Given the description of an element on the screen output the (x, y) to click on. 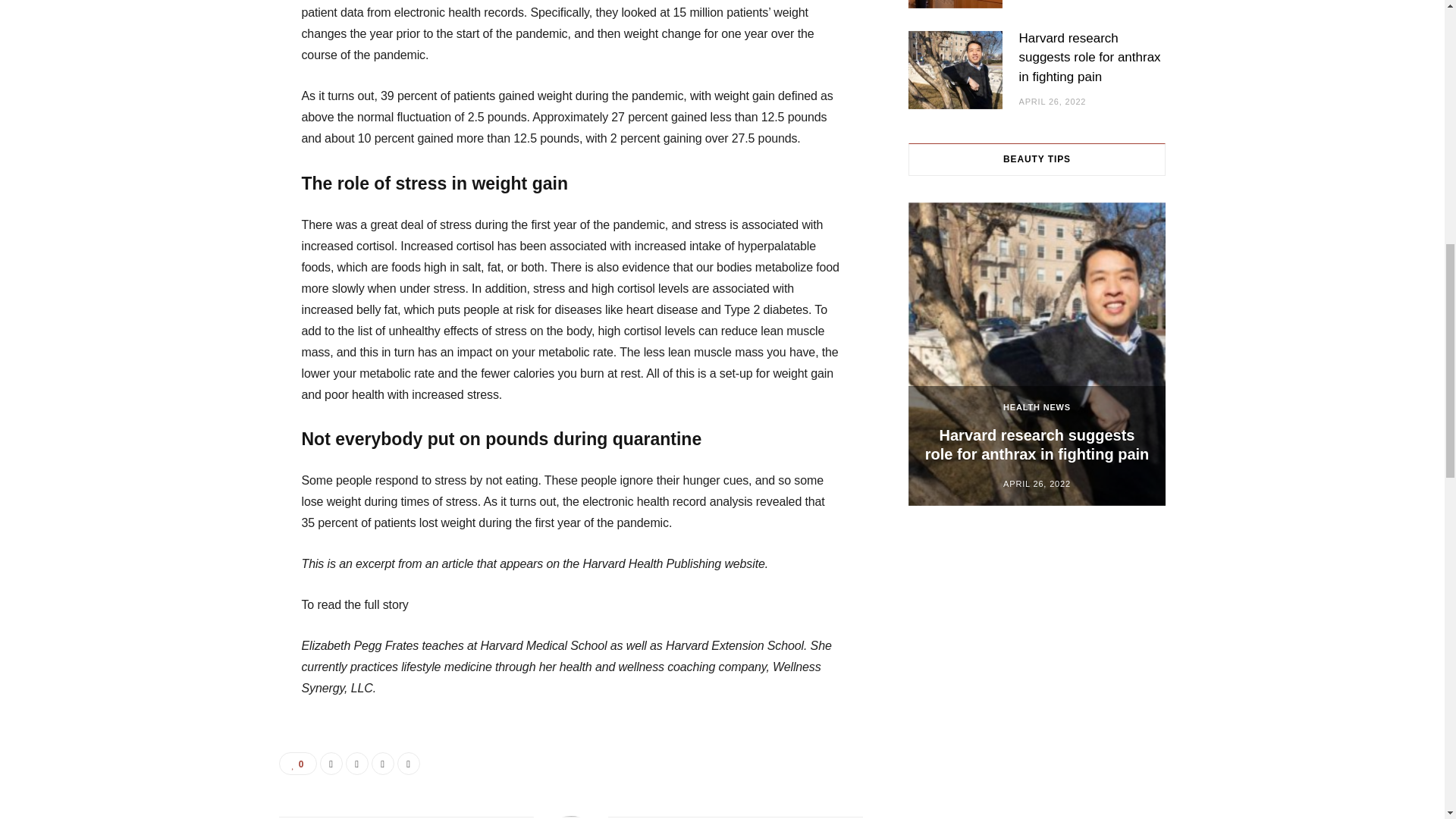
Email (408, 763)
Pinterest (382, 763)
Share on Facebook (331, 763)
0 (298, 763)
Share on Twitter (357, 763)
